Given the description of an element on the screen output the (x, y) to click on. 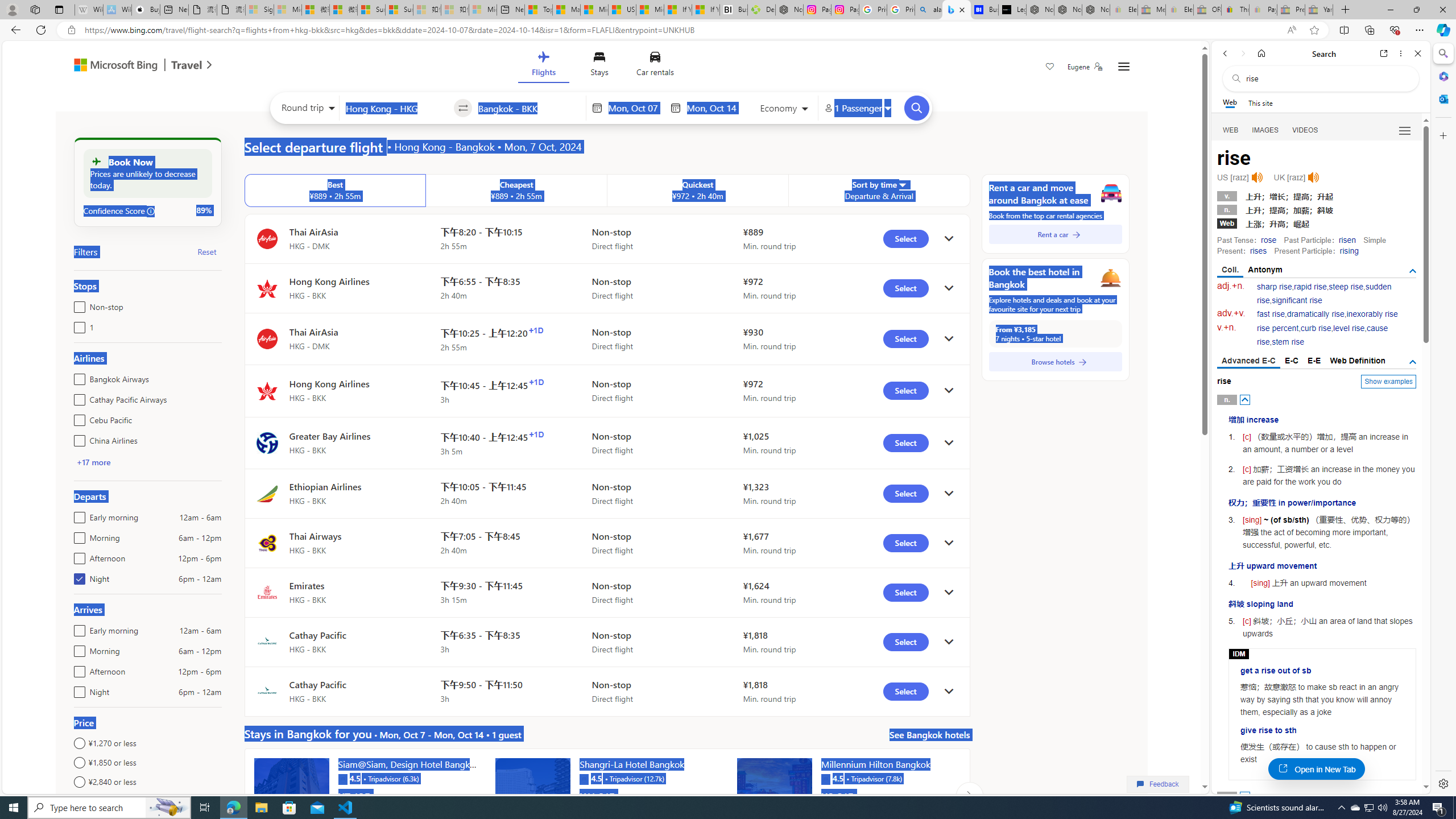
Select trip type (305, 110)
Descarga Driver Updater (761, 9)
Sorter (901, 184)
Antonym (1265, 269)
dramatically rise (1315, 313)
+17 more (92, 461)
Select class of service (784, 109)
Click to scroll right (968, 795)
Sign in to your Microsoft account - Sleeping (259, 9)
curb rise (1315, 328)
